Given the description of an element on the screen output the (x, y) to click on. 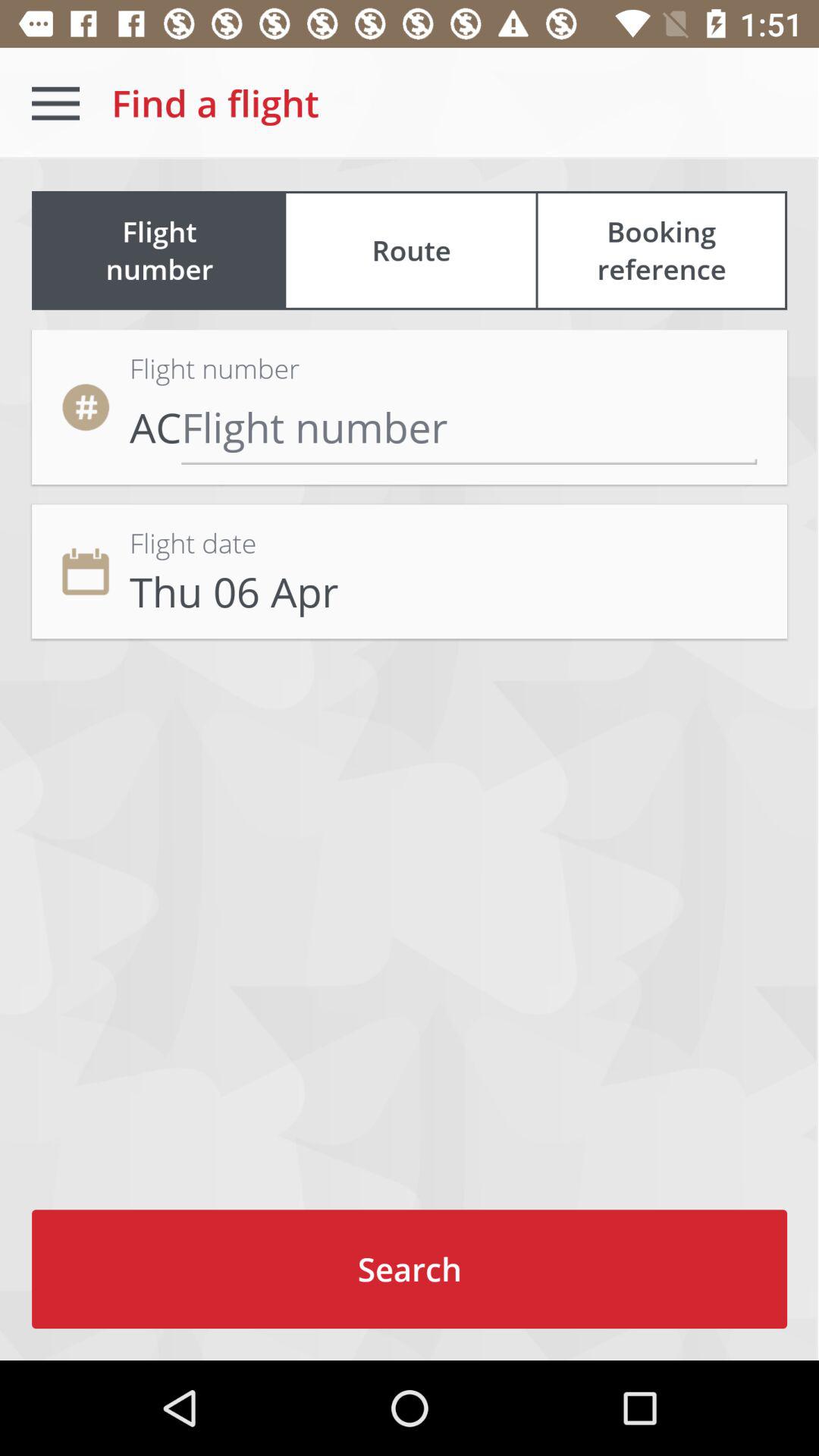
choose booking reference (661, 250)
